Given the description of an element on the screen output the (x, y) to click on. 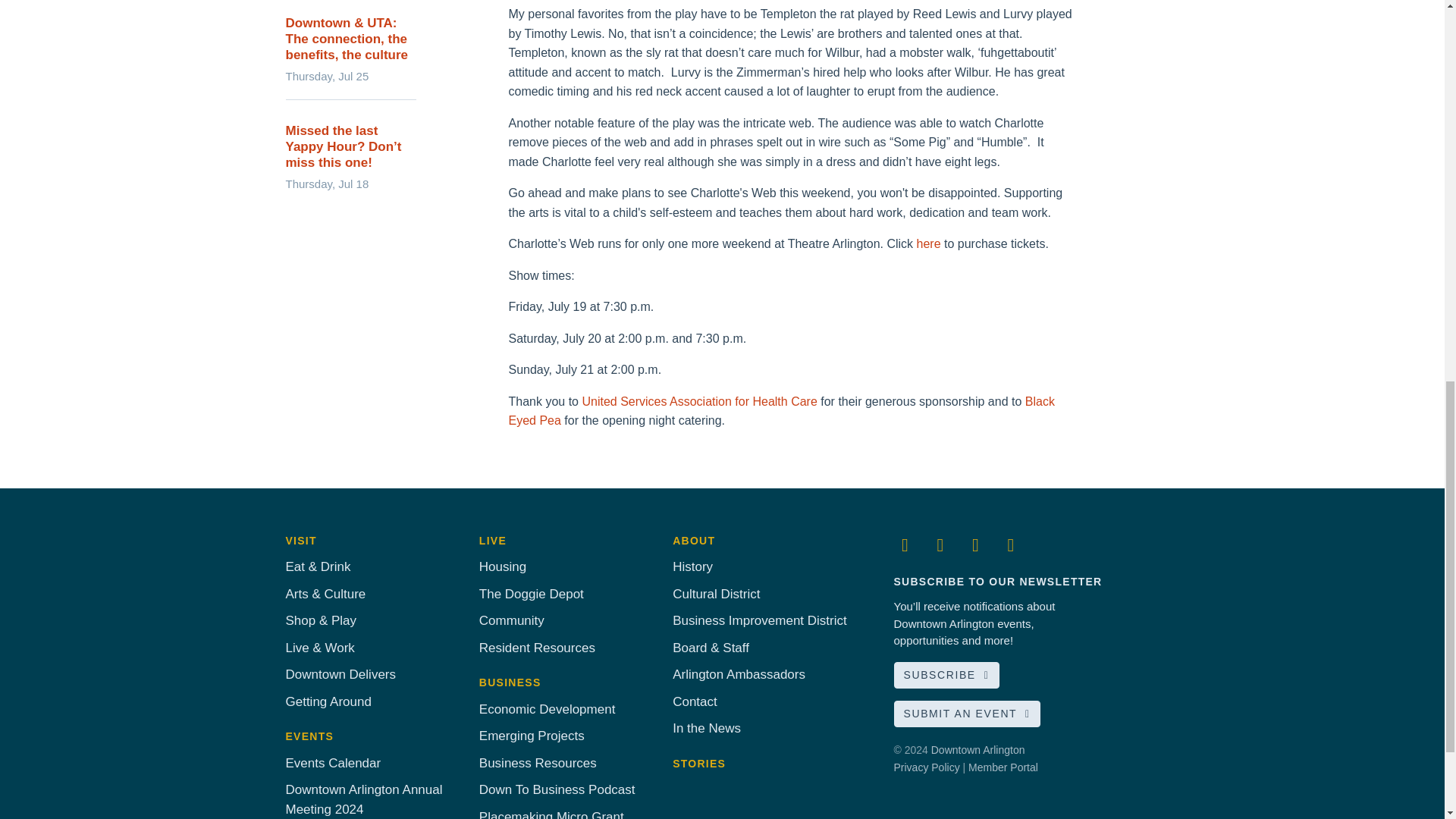
The Black Eyed Pea  (781, 409)
USAHC (698, 400)
Theatre Arlington  (928, 243)
